Given the description of an element on the screen output the (x, y) to click on. 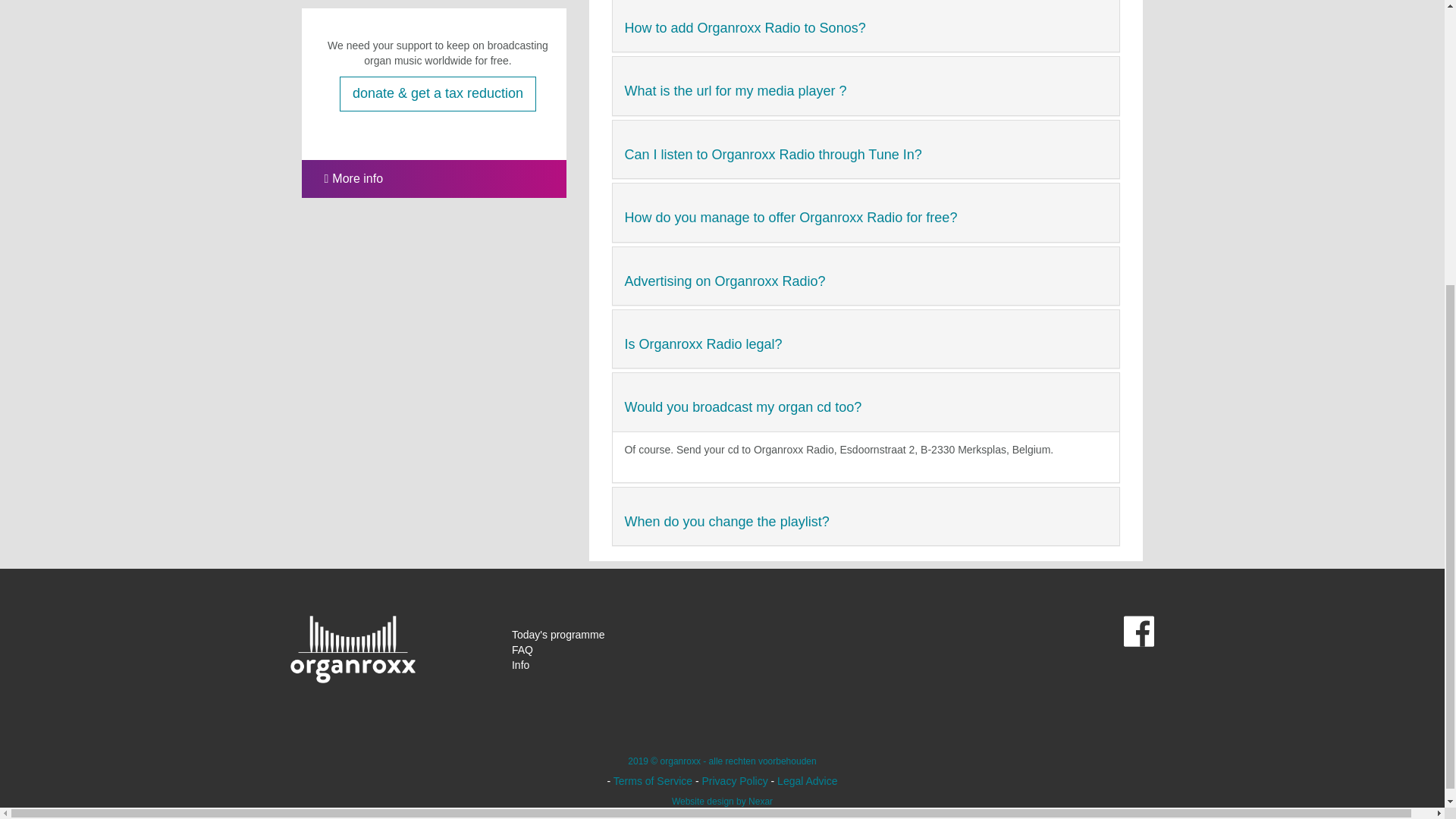
More info (342, 178)
